Given the description of an element on the screen output the (x, y) to click on. 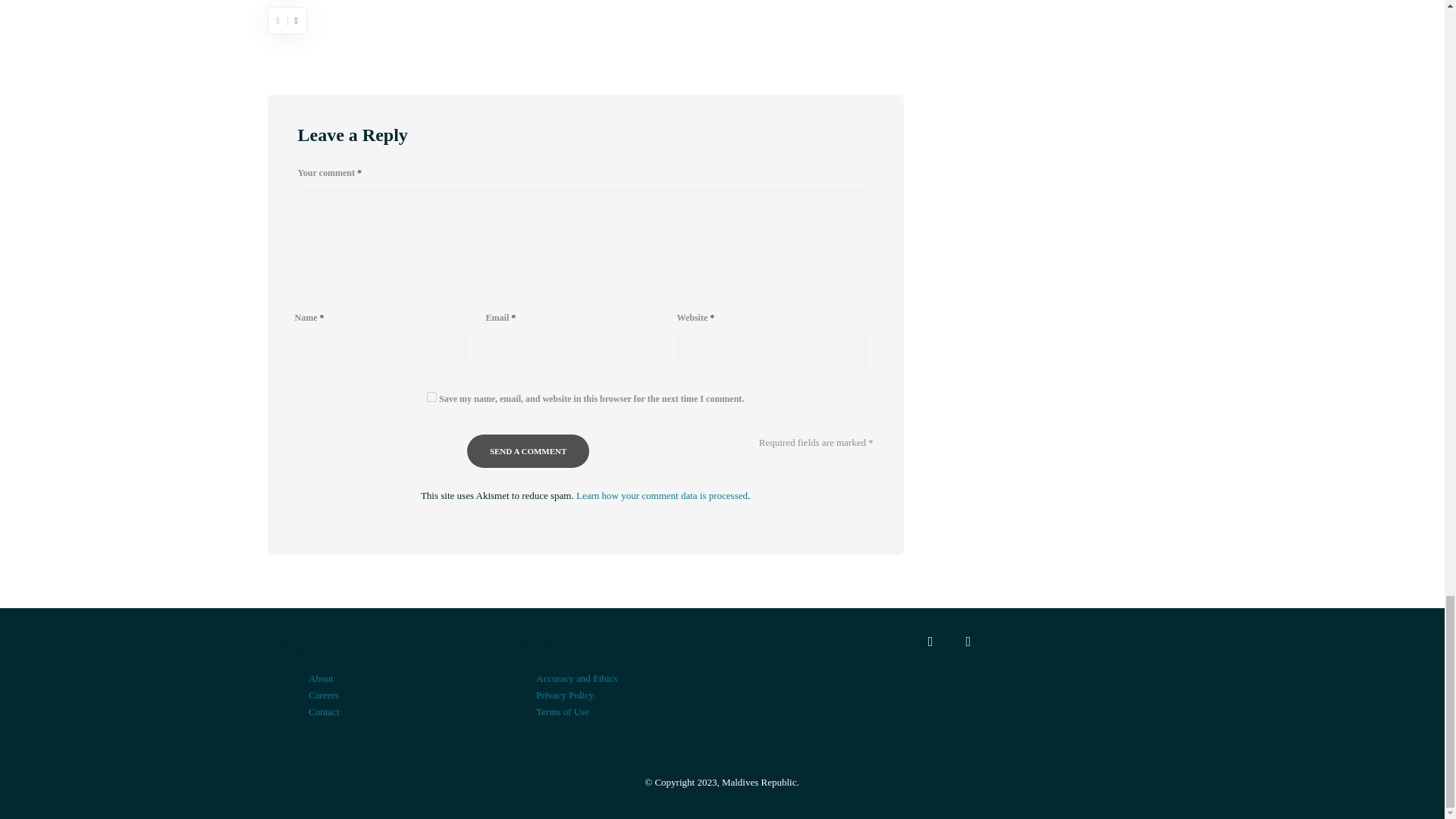
yes (431, 397)
Send a comment (528, 450)
